Given the description of an element on the screen output the (x, y) to click on. 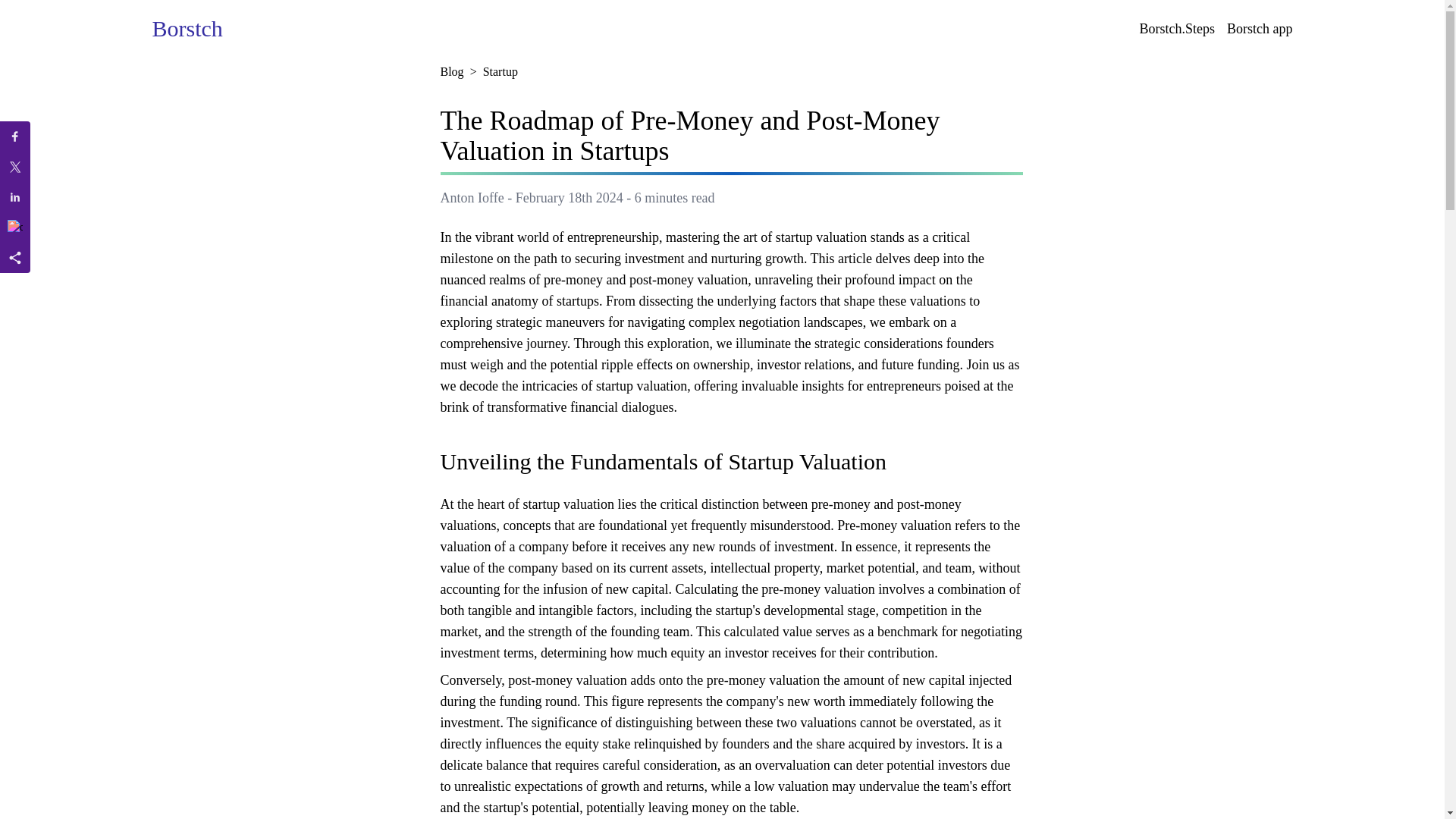
Borstch.Steps (1176, 28)
Blog (451, 72)
Startup (500, 72)
Borstch (186, 28)
Borstch app (1259, 28)
